Given the description of an element on the screen output the (x, y) to click on. 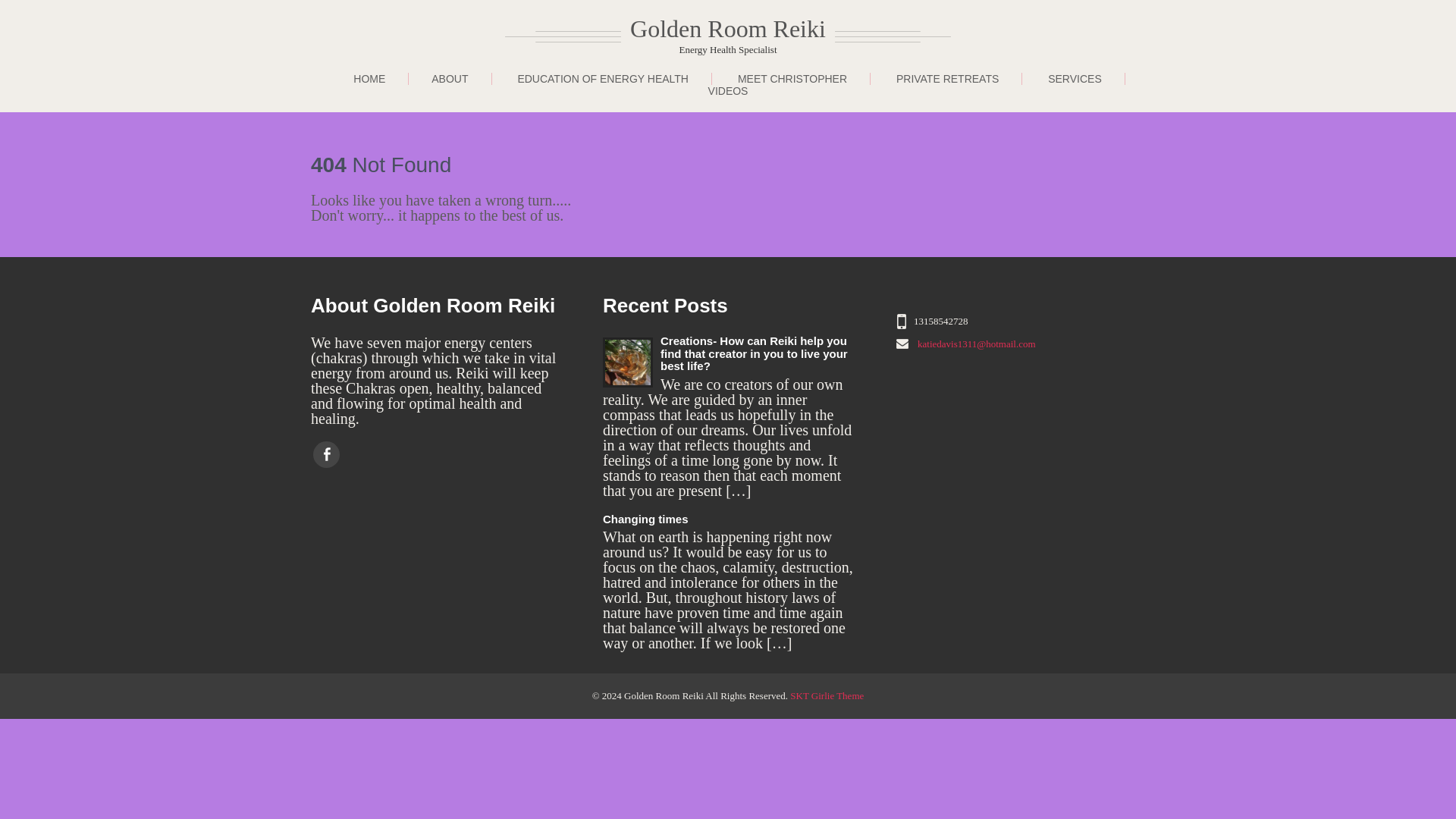
EDUCATION OF ENERGY HEALTH (603, 78)
VIDEOS (728, 91)
SKT Girlie Theme (826, 695)
ABOUT (450, 78)
MEET CHRISTOPHER (792, 78)
SERVICES (1075, 78)
facebook (326, 454)
HOME (790, 36)
Changing times (369, 78)
PRIVATE RETREATS (727, 519)
